Given the description of an element on the screen output the (x, y) to click on. 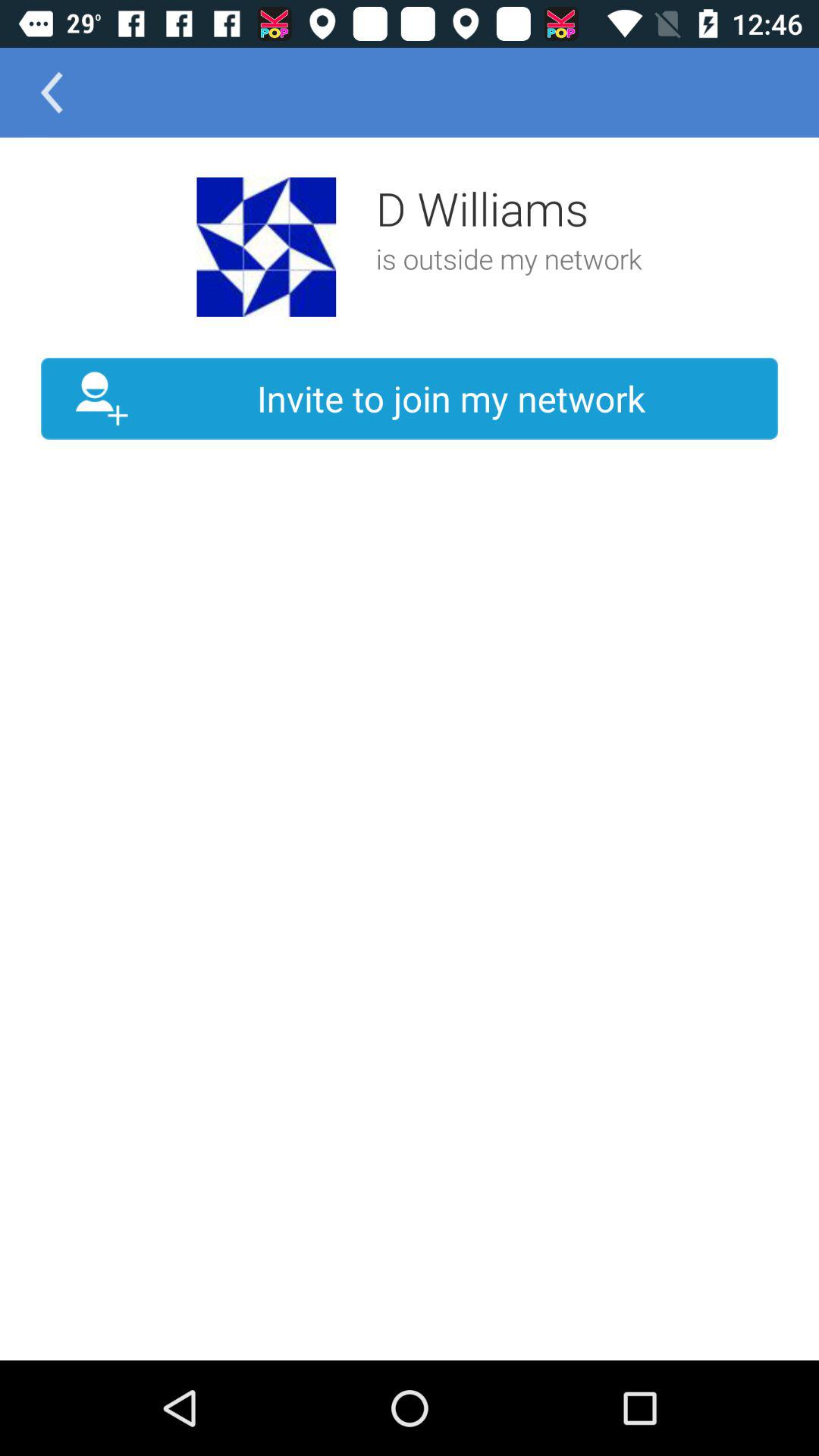
select icon next to d williams item (266, 246)
